Given the description of an element on the screen output the (x, y) to click on. 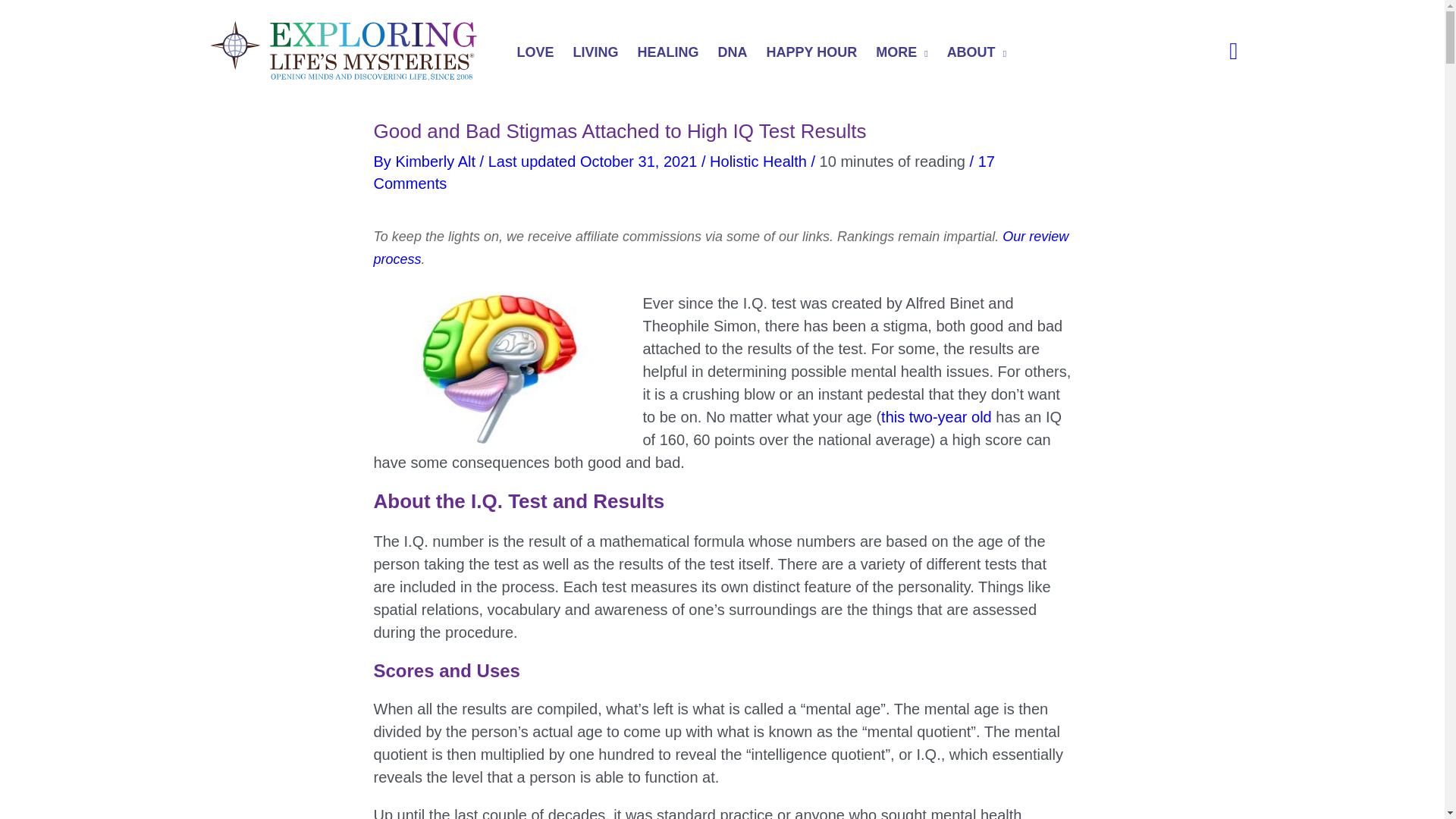
Good and Bad Stigmas Attached to High IQ Test Results (496, 367)
DNA (734, 53)
LIVING (598, 53)
View all posts by Kimberly Alt (436, 161)
ABOUT (978, 53)
Kimberly Alt (436, 161)
LOVE (537, 53)
HAPPY HOUR (813, 53)
Holistic Health (758, 161)
MORE (903, 53)
